Given the description of an element on the screen output the (x, y) to click on. 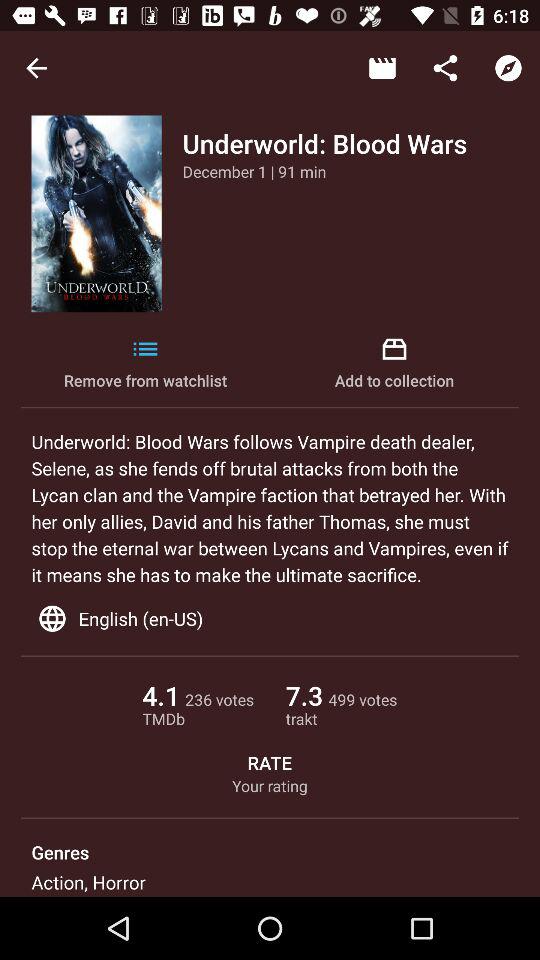
select the item below the underworld: blood wars item (254, 171)
